Given the description of an element on the screen output the (x, y) to click on. 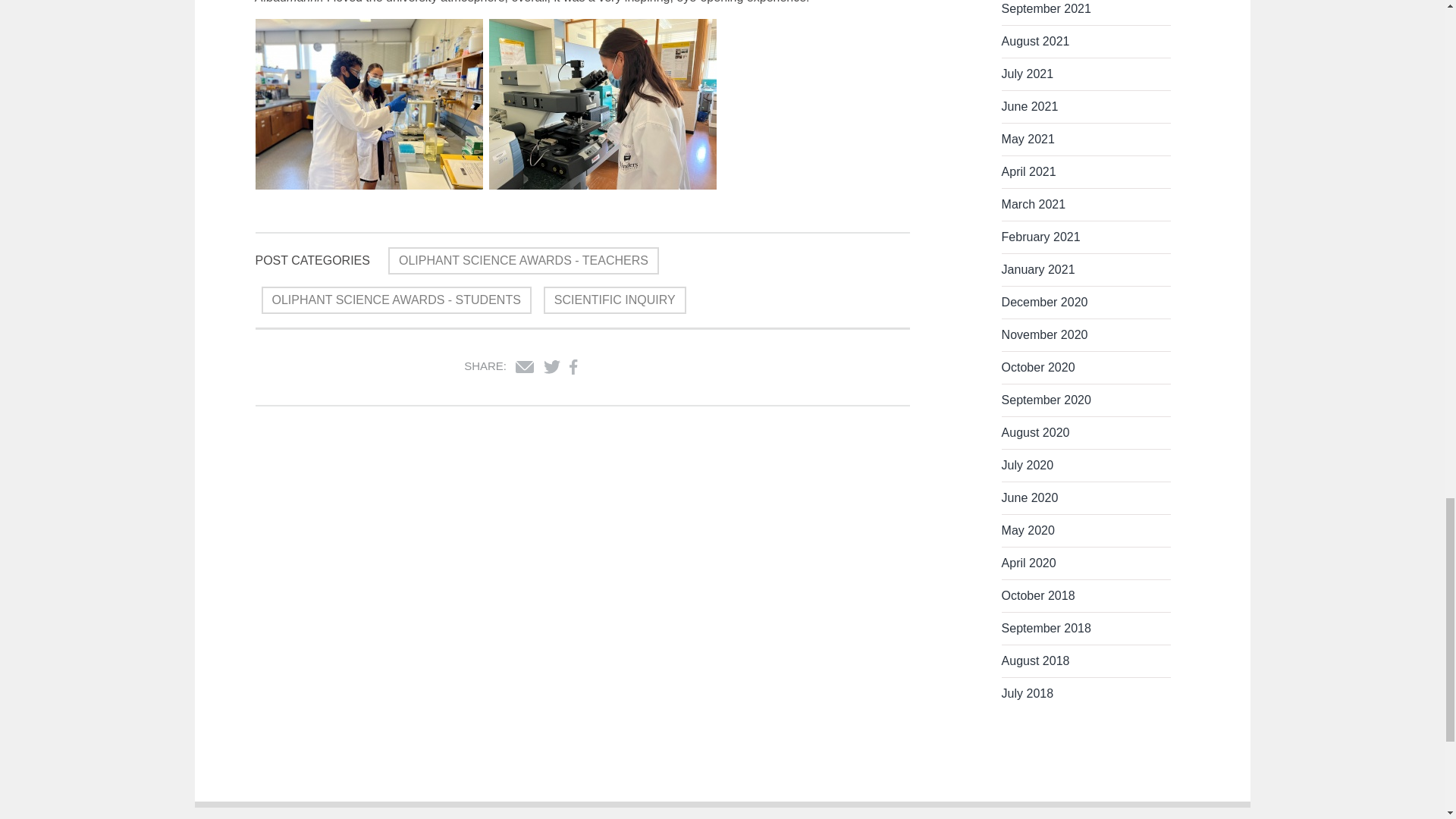
OLIPHANT SCIENCE AWARDS - TEACHERS (523, 260)
OLIPHANT SCIENCE AWARDS - STUDENTS (395, 299)
SCIENTIFIC INQUIRY (614, 299)
